Given the description of an element on the screen output the (x, y) to click on. 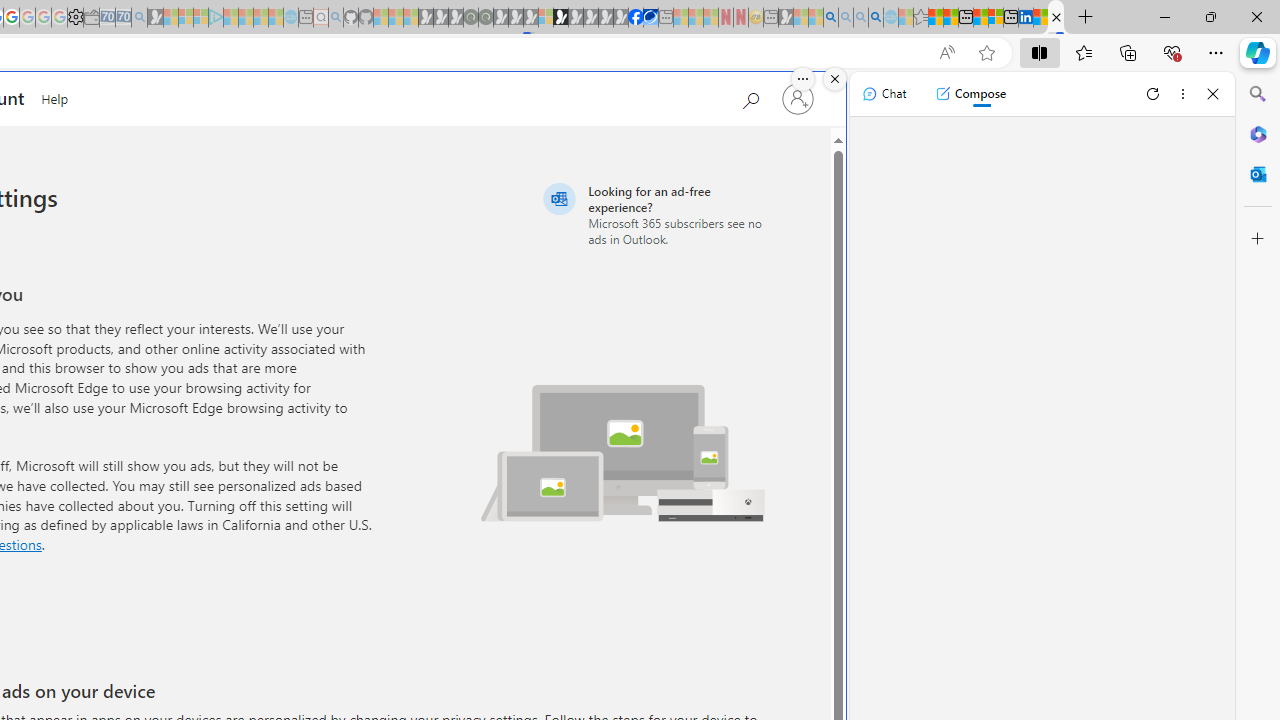
Aberdeen, Hong Kong SAR weather forecast | Microsoft Weather (950, 17)
